Given the description of an element on the screen output the (x, y) to click on. 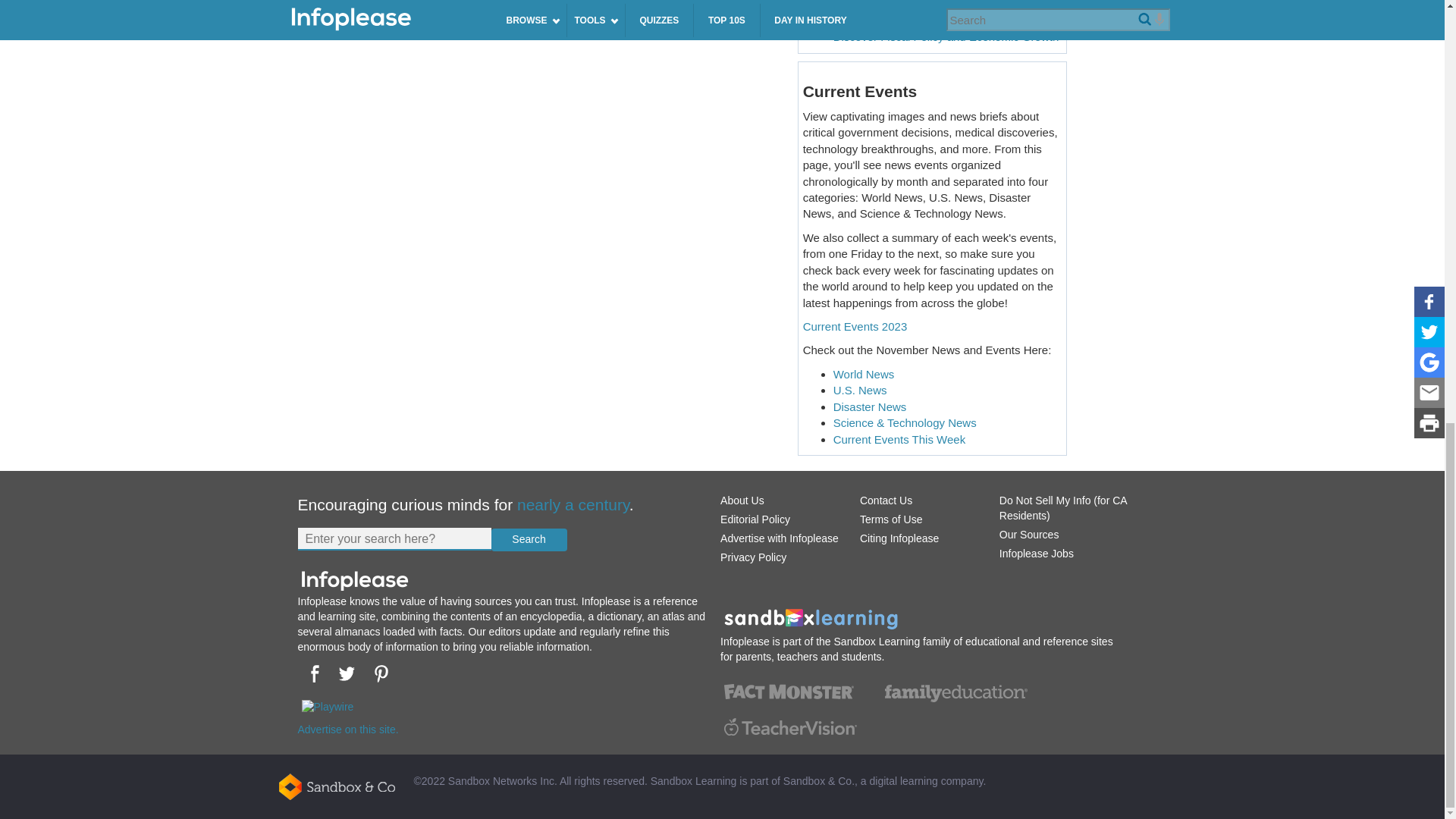
Search (529, 539)
